Given the description of an element on the screen output the (x, y) to click on. 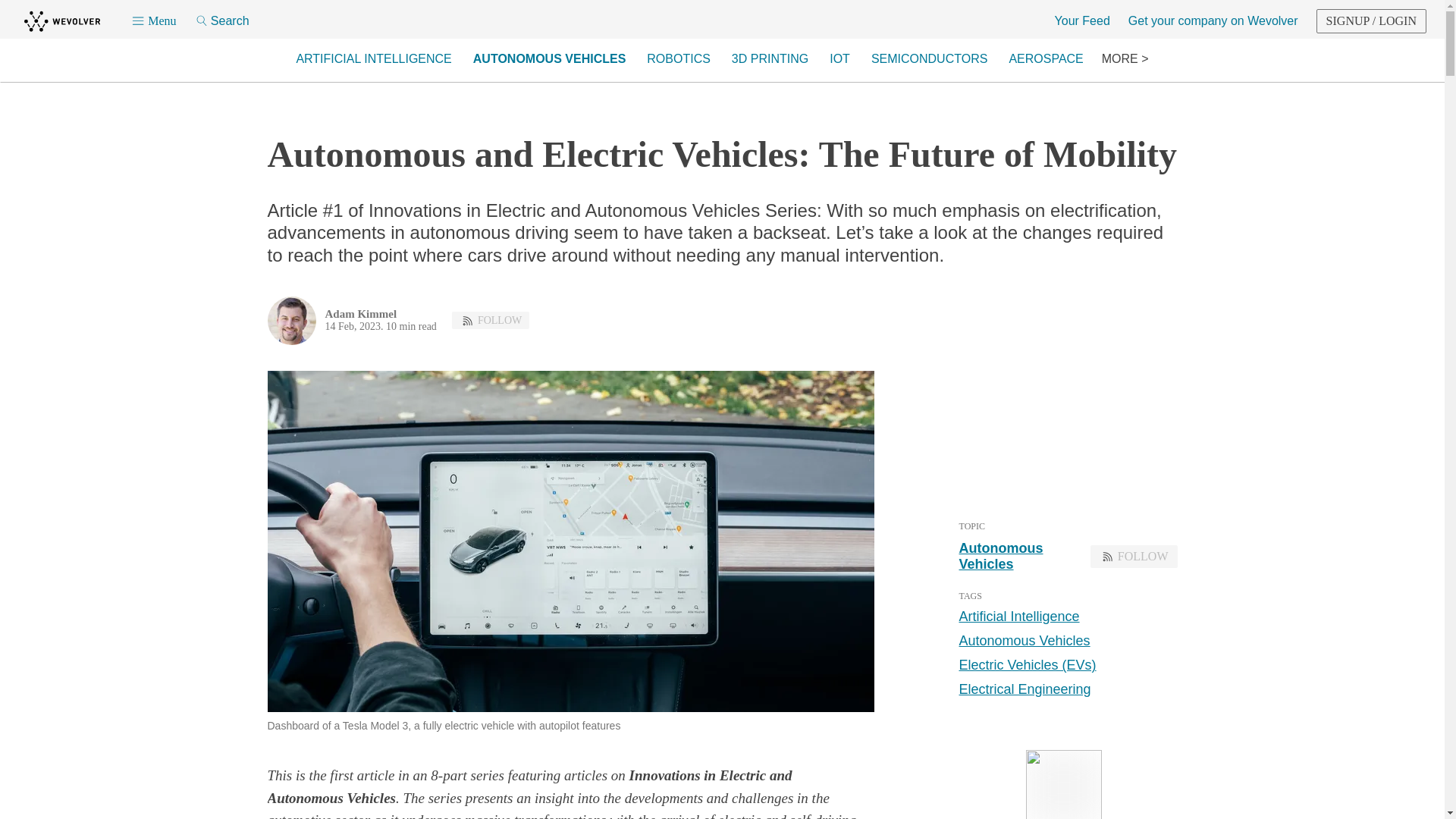
Menu (153, 21)
Autonomous Vehicles (1019, 556)
Adam Kimmel (360, 313)
AEROSPACE (1045, 59)
Autonomous Vehicles (1023, 640)
AUTONOMOUS VEHICLES (549, 59)
ARTIFICIAL INTELLIGENCE (373, 59)
IOT (840, 59)
Electrical Engineering (1024, 689)
Get your company on Wevolver (1213, 20)
